Given the description of an element on the screen output the (x, y) to click on. 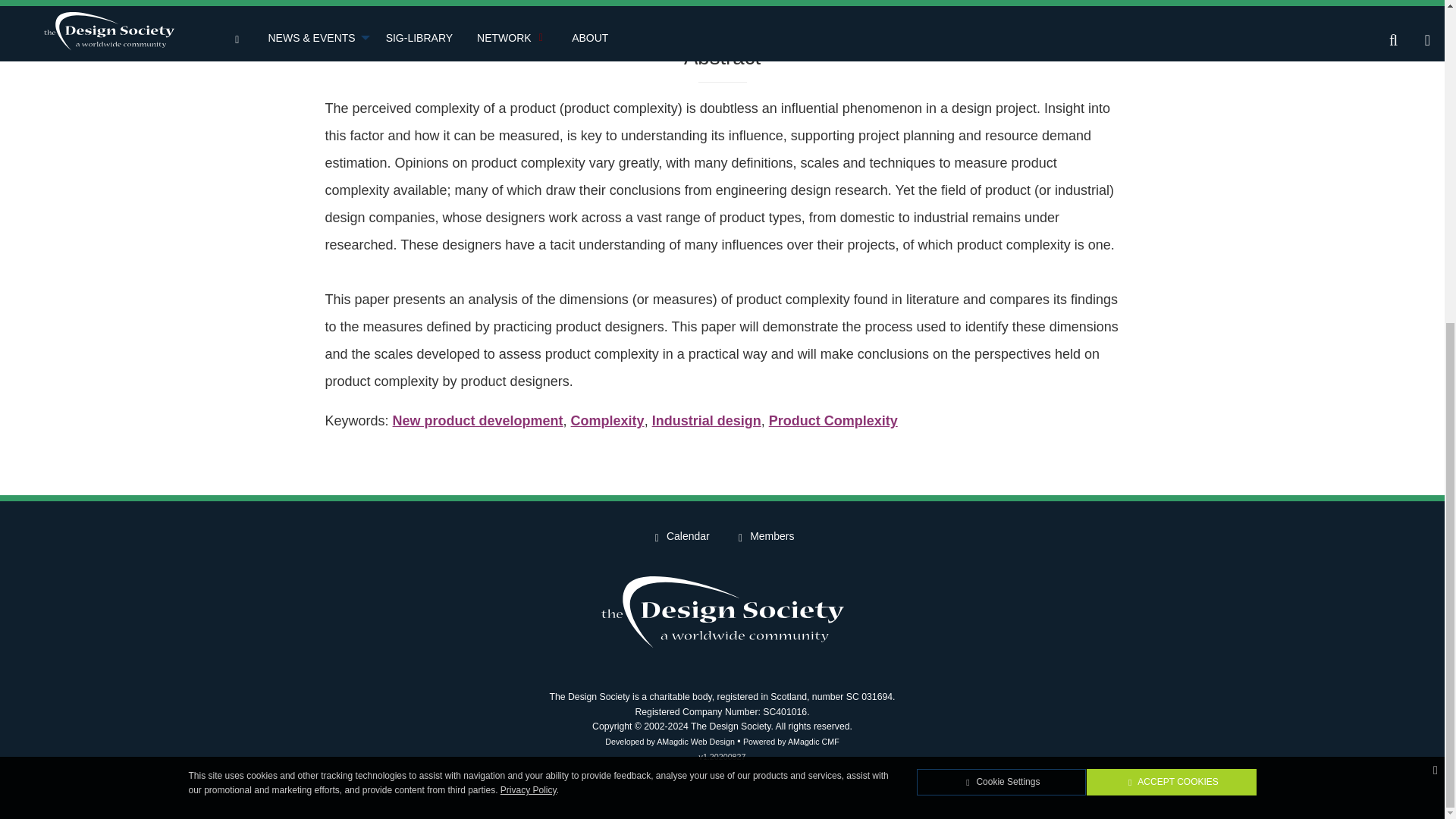
Privacy Policy (528, 263)
Cookie Settings (1000, 255)
New product development (478, 420)
Calendar (680, 537)
Members (764, 537)
Industrial design (706, 420)
Developed by AMagdic Web Design (670, 741)
Product Complexity (833, 420)
Complexity (607, 420)
ACCEPT COOKIES (1171, 255)
